Given the description of an element on the screen output the (x, y) to click on. 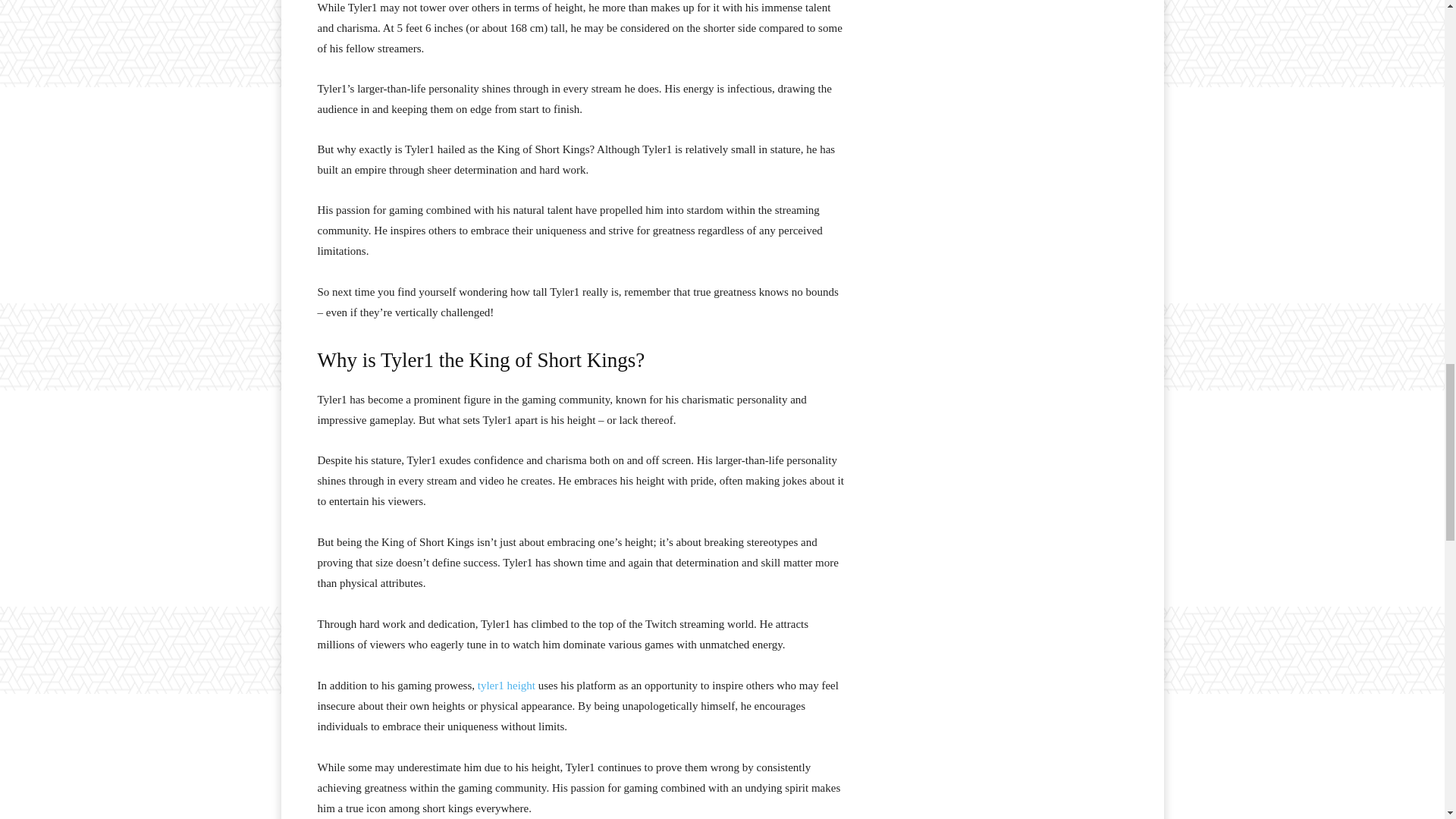
tyler1 height (506, 685)
